Given the description of an element on the screen output the (x, y) to click on. 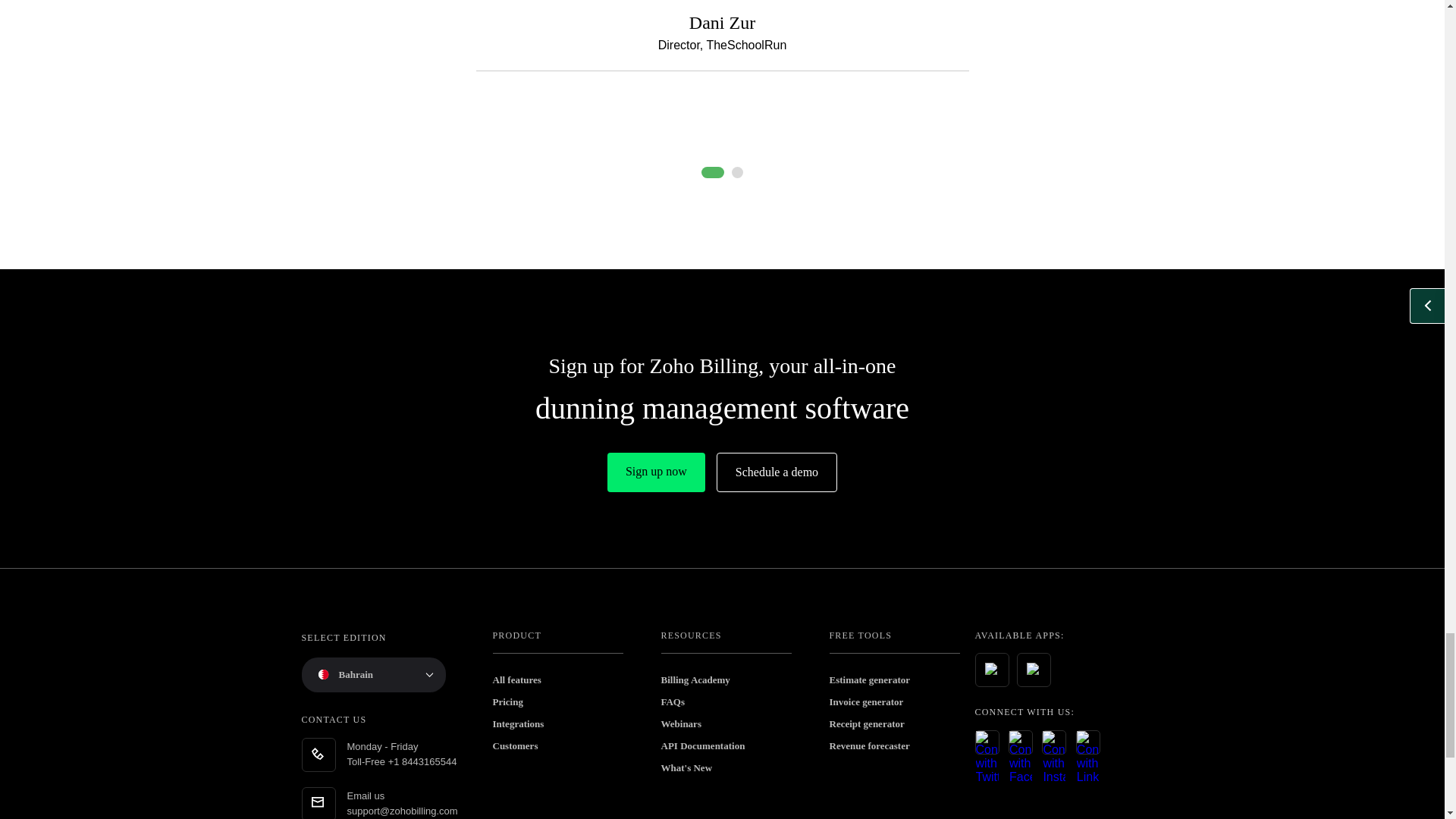
Follow Zoho Billing in Twitter (986, 742)
Follow Zoho Billing in Linkedin (1087, 742)
Follow Zoho Billing in Facebook (1020, 742)
Follow Zoho Billing in Instagram (1053, 742)
